Given the description of an element on the screen output the (x, y) to click on. 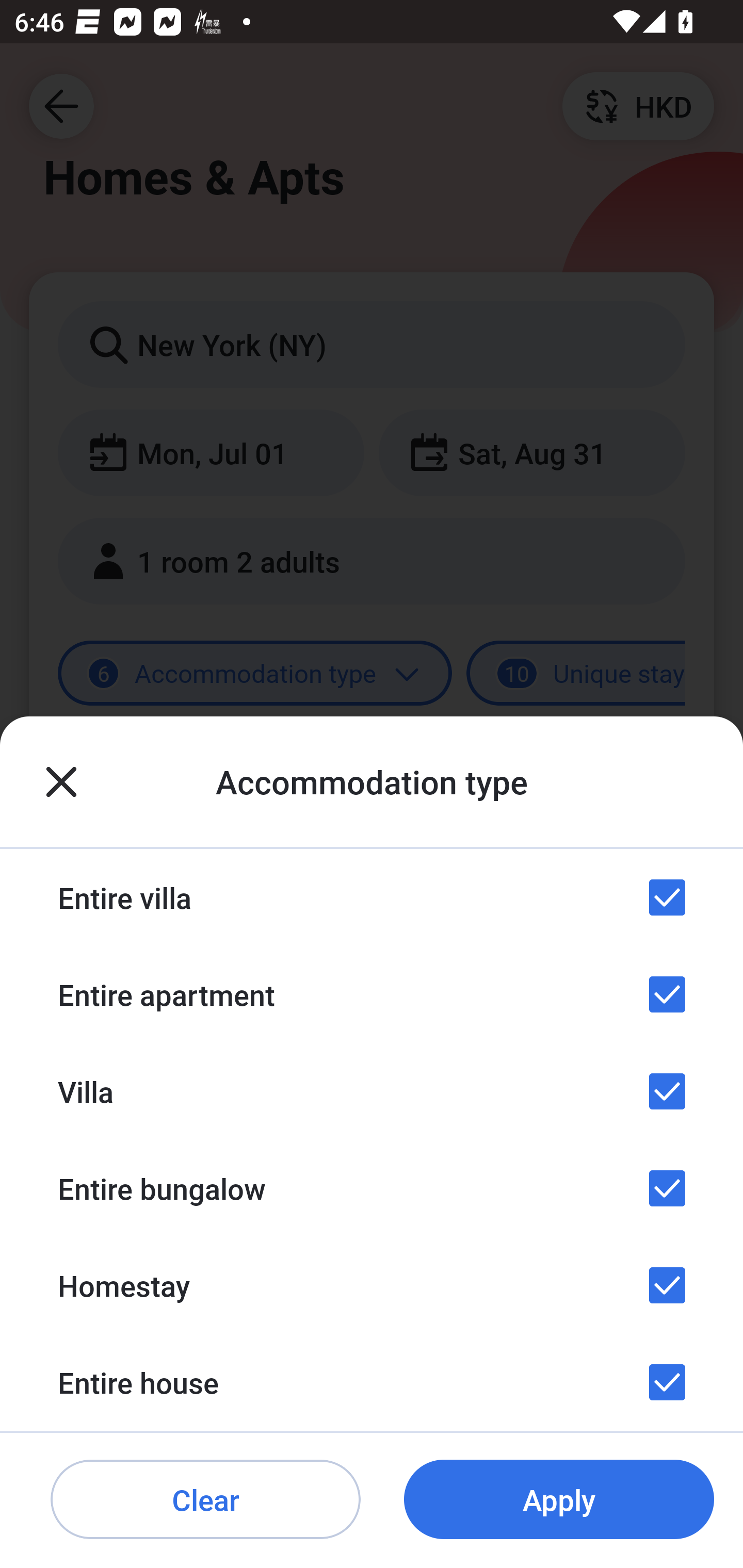
Entire villa (371, 897)
Entire apartment (371, 994)
Villa (371, 1091)
Entire bungalow (371, 1188)
Homestay (371, 1284)
Entire house (371, 1382)
Clear (205, 1499)
Apply (559, 1499)
